Given the description of an element on the screen output the (x, y) to click on. 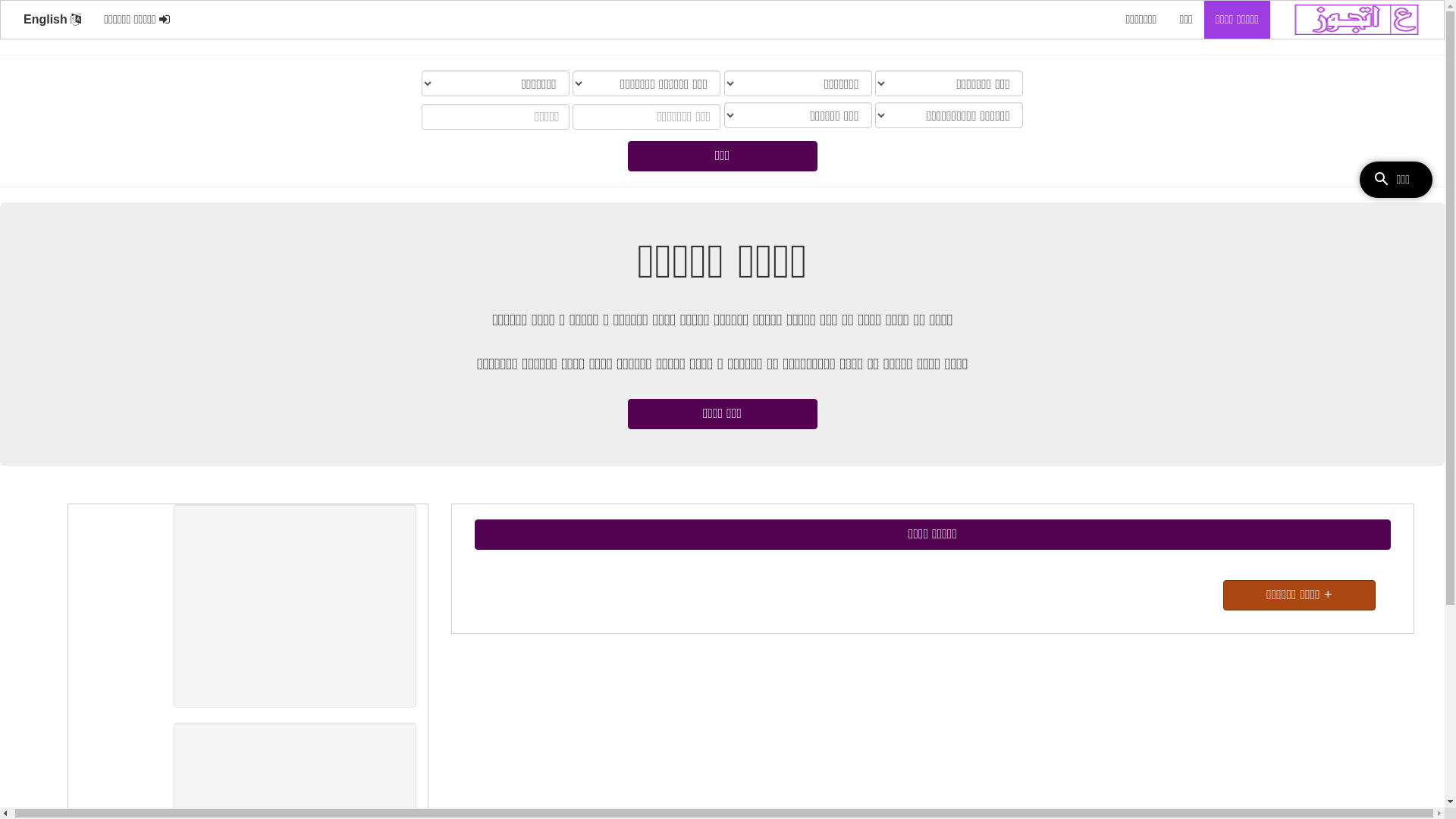
English Element type: text (52, 19)
Advertisement Element type: hover (294, 605)
